Given the description of an element on the screen output the (x, y) to click on. 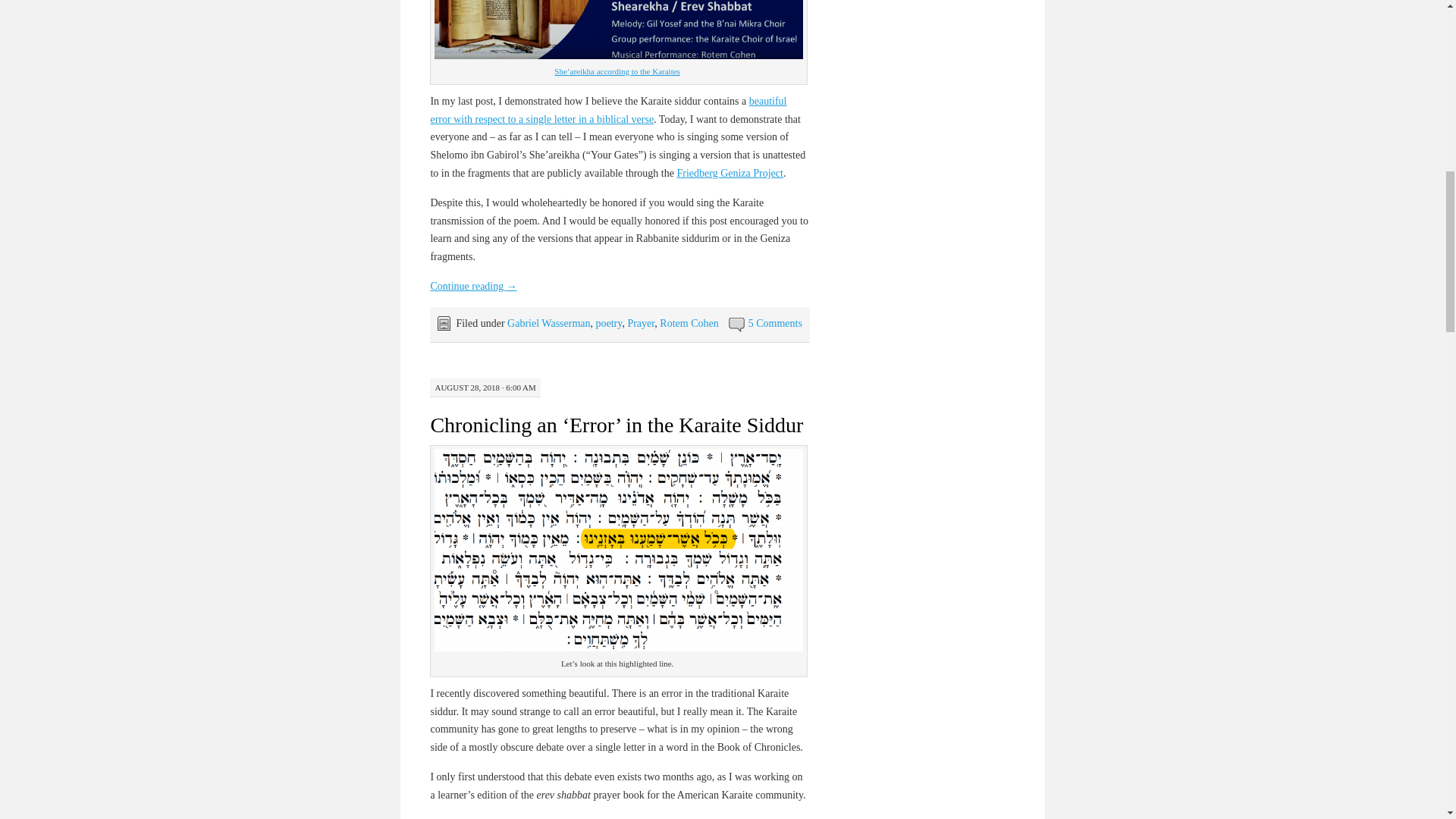
poetry (609, 323)
Gabriel Wasserman (547, 323)
5 Comments (775, 323)
Friedberg Geniza Project (730, 173)
Rotem Cohen (688, 323)
Prayer (640, 323)
